Given the description of an element on the screen output the (x, y) to click on. 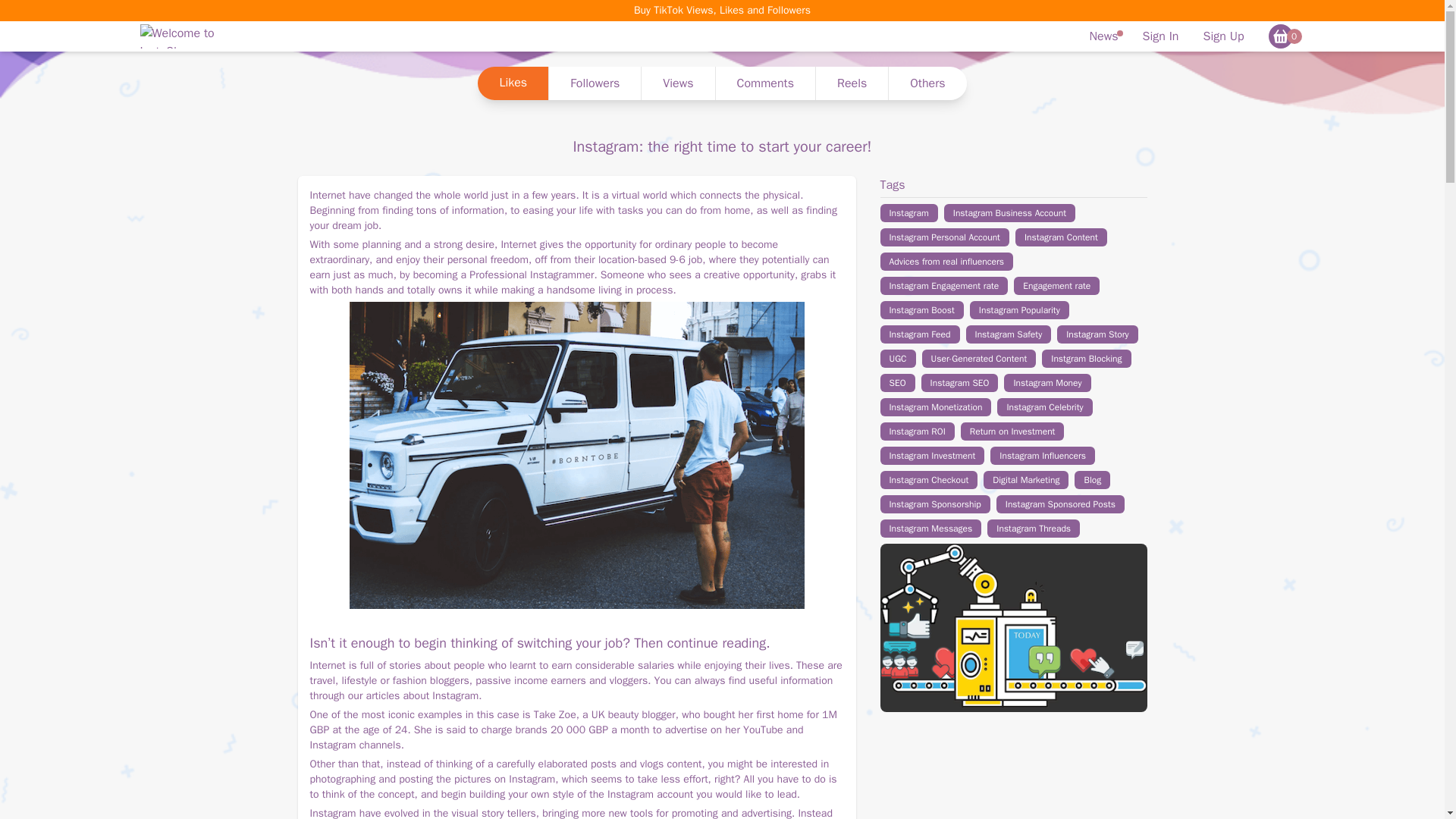
Instagram Personal Account (944, 237)
Sign In (1161, 36)
Buy Instagram Comments (764, 82)
Instagram Business Account (1009, 212)
Buy Instagram Reels (851, 82)
Instagram (908, 212)
Buy Instagram Views (677, 82)
Comments (764, 82)
News (1104, 36)
Instagram Content (1060, 237)
